Given the description of an element on the screen output the (x, y) to click on. 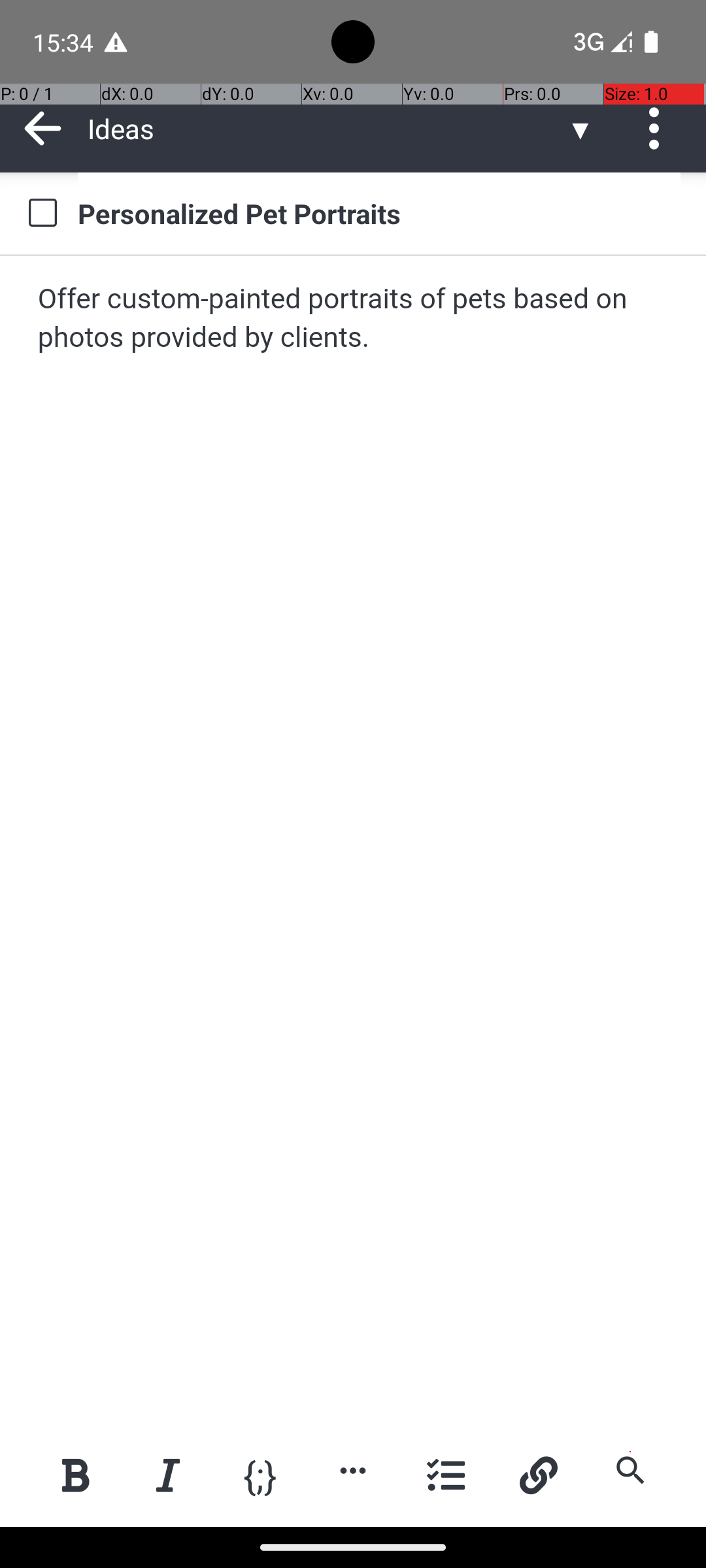
Personalized Pet Portraits Element type: android.widget.EditText (378, 213)
Offer custom-painted portraits of pets based on photos provided by clients. Element type: android.widget.EditText (354, 318)
